Given the description of an element on the screen output the (x, y) to click on. 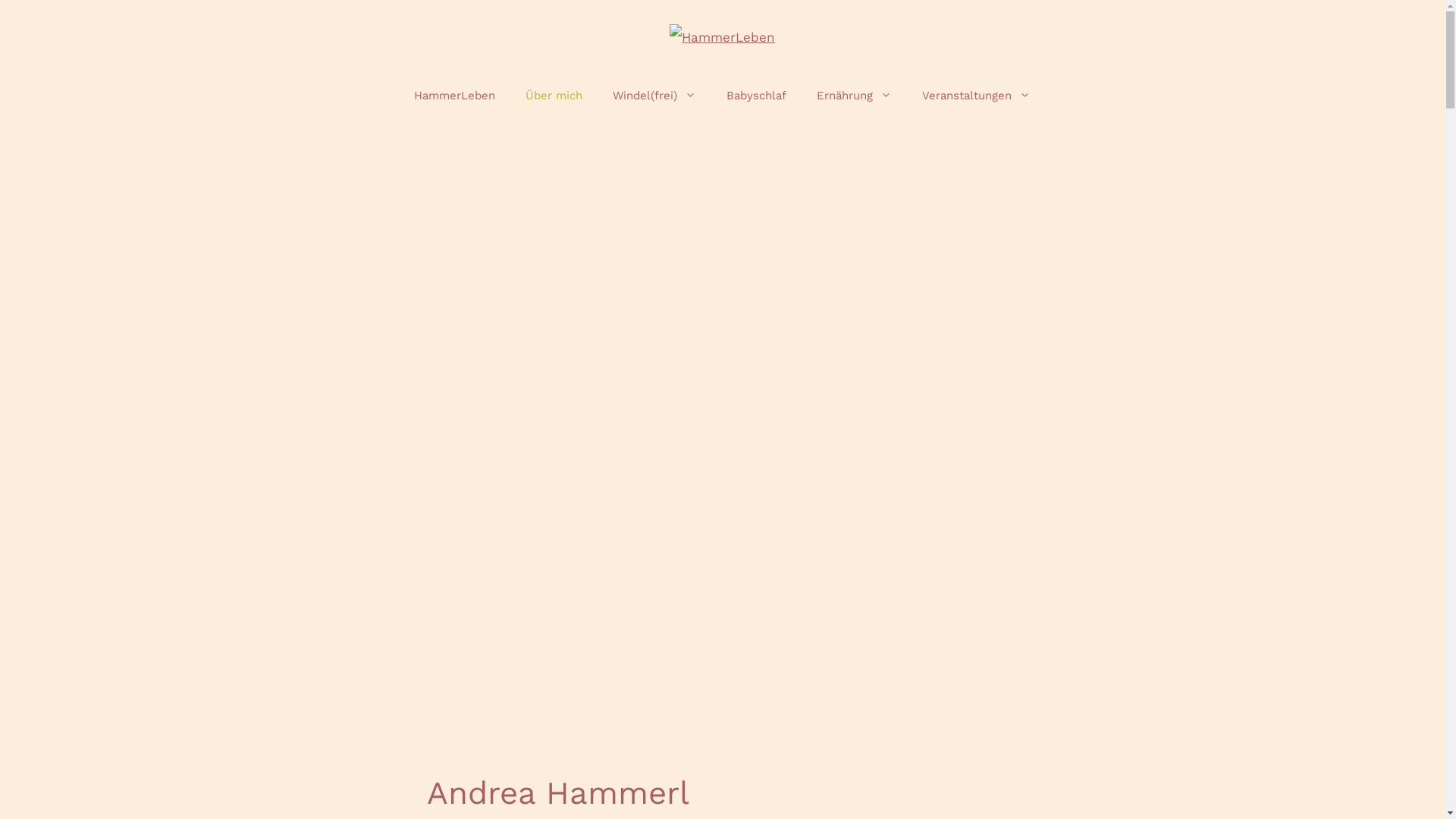
HammerLeben Element type: text (454, 95)
Babyschlaf Element type: text (756, 95)
HammerLeben Element type: hover (722, 37)
Veranstaltungen Element type: text (975, 95)
Windel(frei) Element type: text (654, 95)
HammerLeben Element type: hover (722, 35)
